Given the description of an element on the screen output the (x, y) to click on. 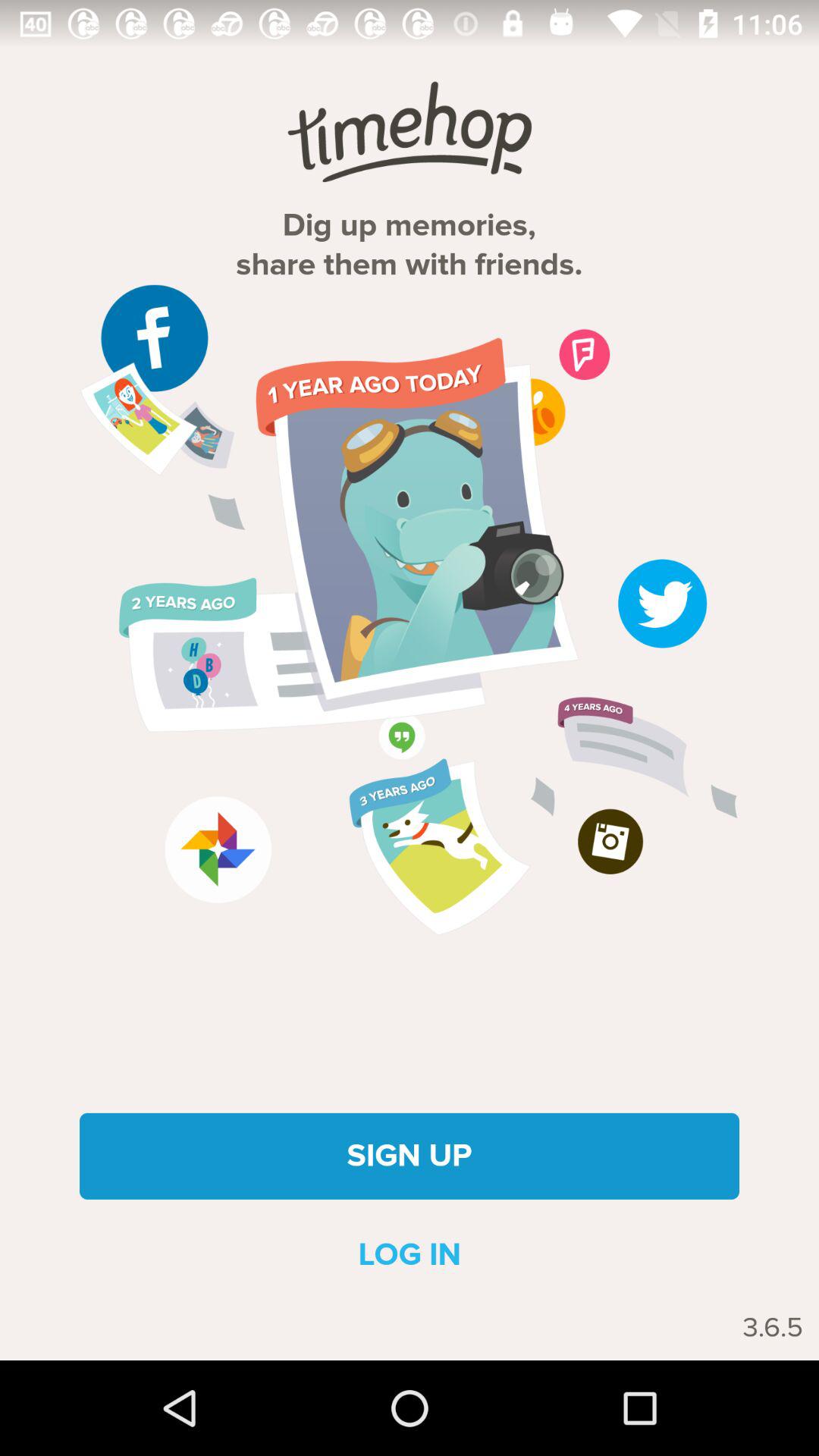
scroll to the log in icon (409, 1255)
